Given the description of an element on the screen output the (x, y) to click on. 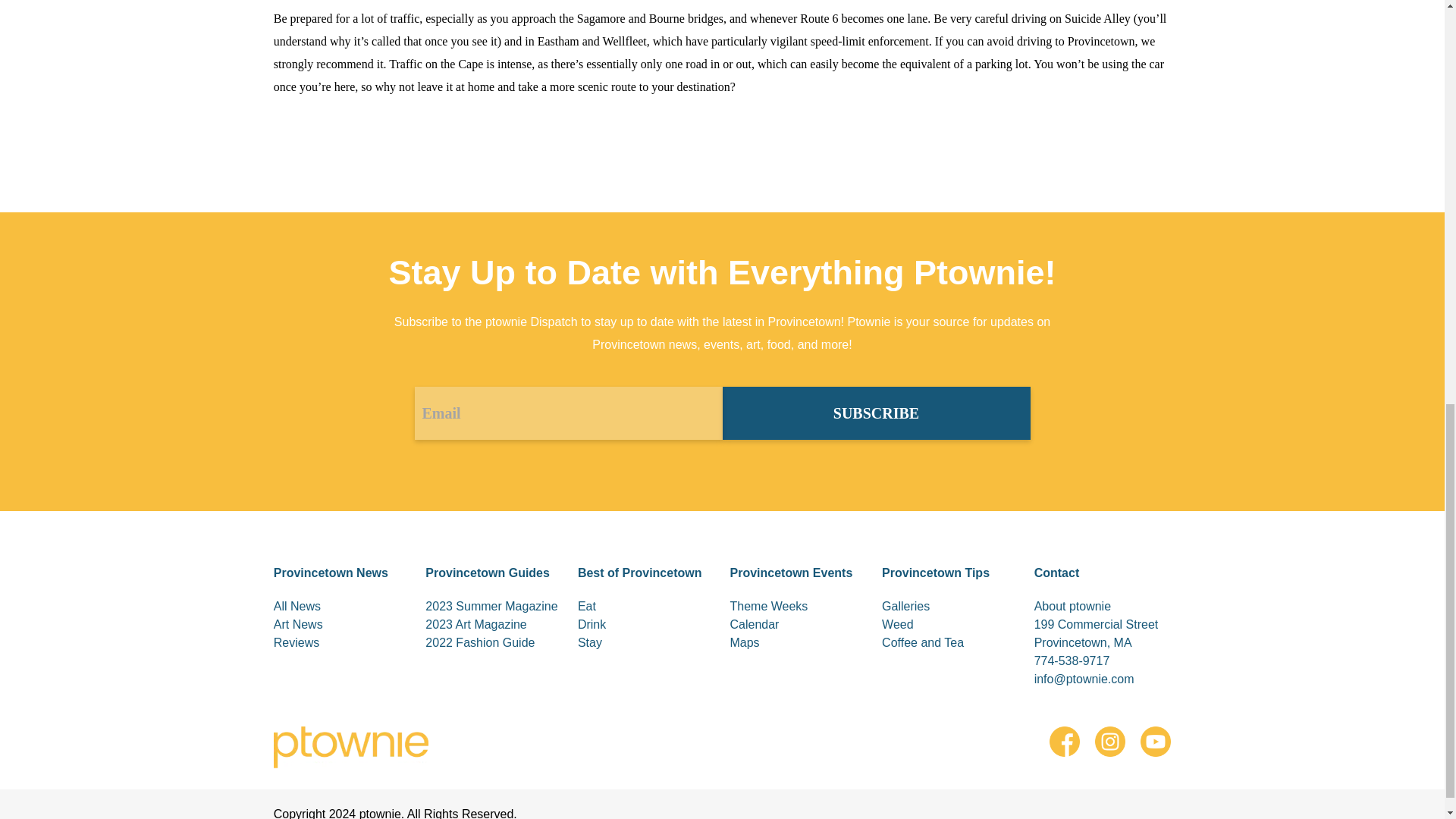
SUBSCRIBE (875, 412)
Art News (341, 624)
SUBSCRIBE (875, 412)
All News (341, 606)
